Given the description of an element on the screen output the (x, y) to click on. 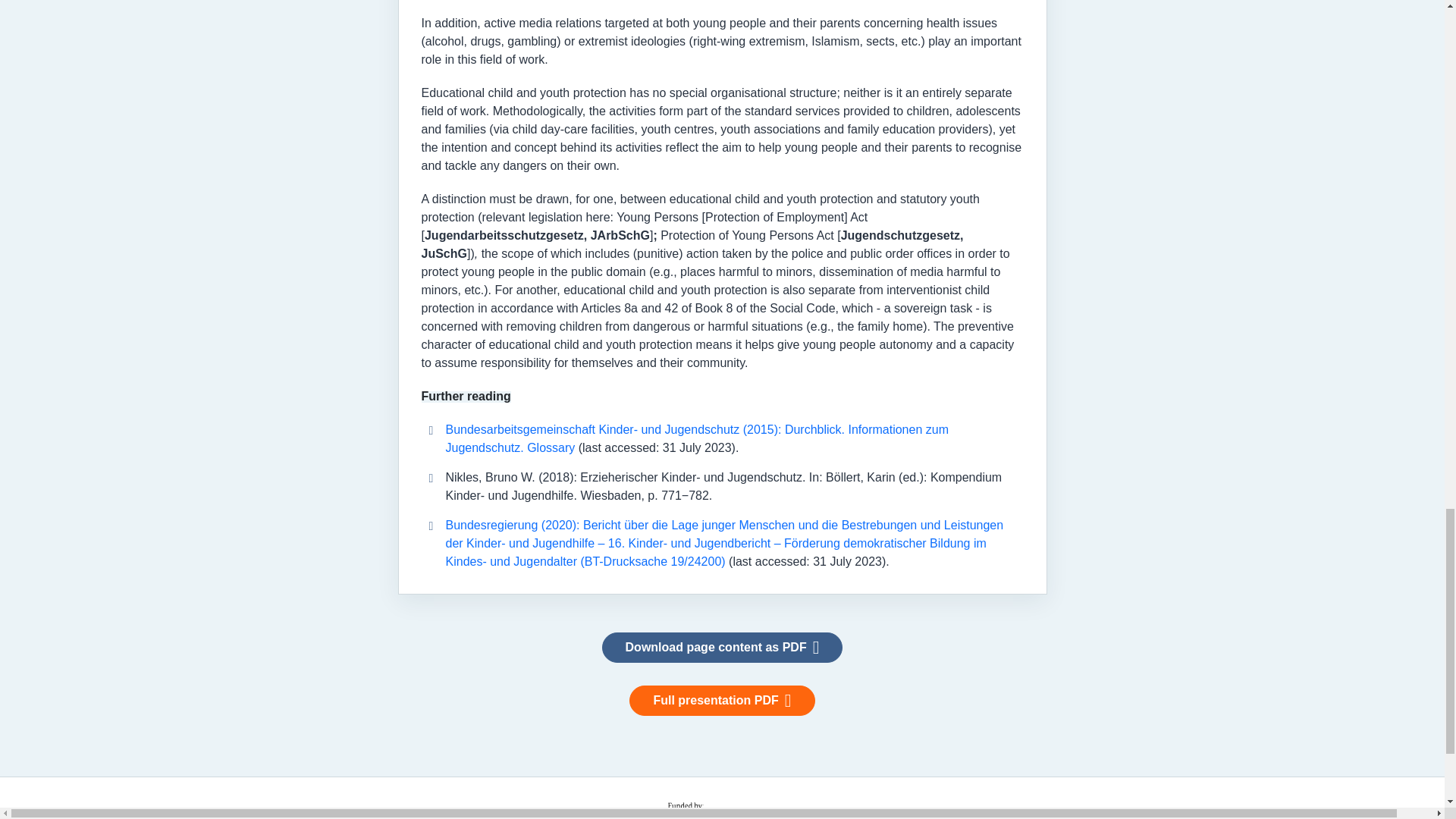
Download page content as PDF (722, 647)
Full presentation PDF (720, 700)
